Given the description of an element on the screen output the (x, y) to click on. 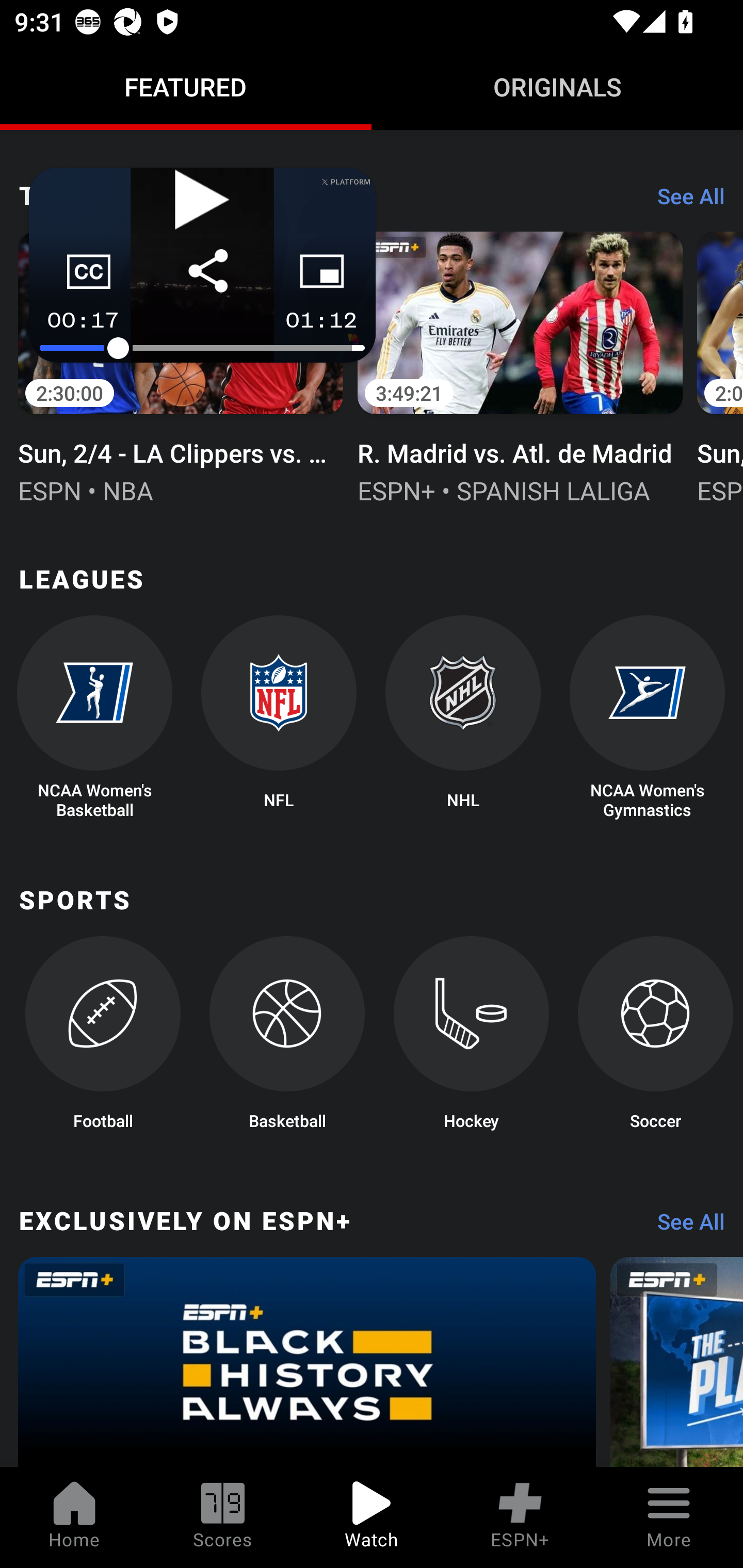
Originals ORIGINALS (557, 86)
See All (683, 200)
NCAA Women's Basketball (94, 717)
NFL (278, 717)
NHL (462, 717)
NCAA Women's Gymnastics (647, 717)
Football (102, 1038)
Basketball (286, 1038)
Hockey (471, 1038)
Soccer (655, 1038)
See All (683, 1225)
Home (74, 1517)
Scores (222, 1517)
ESPN+ (519, 1517)
More (668, 1517)
